Given the description of an element on the screen output the (x, y) to click on. 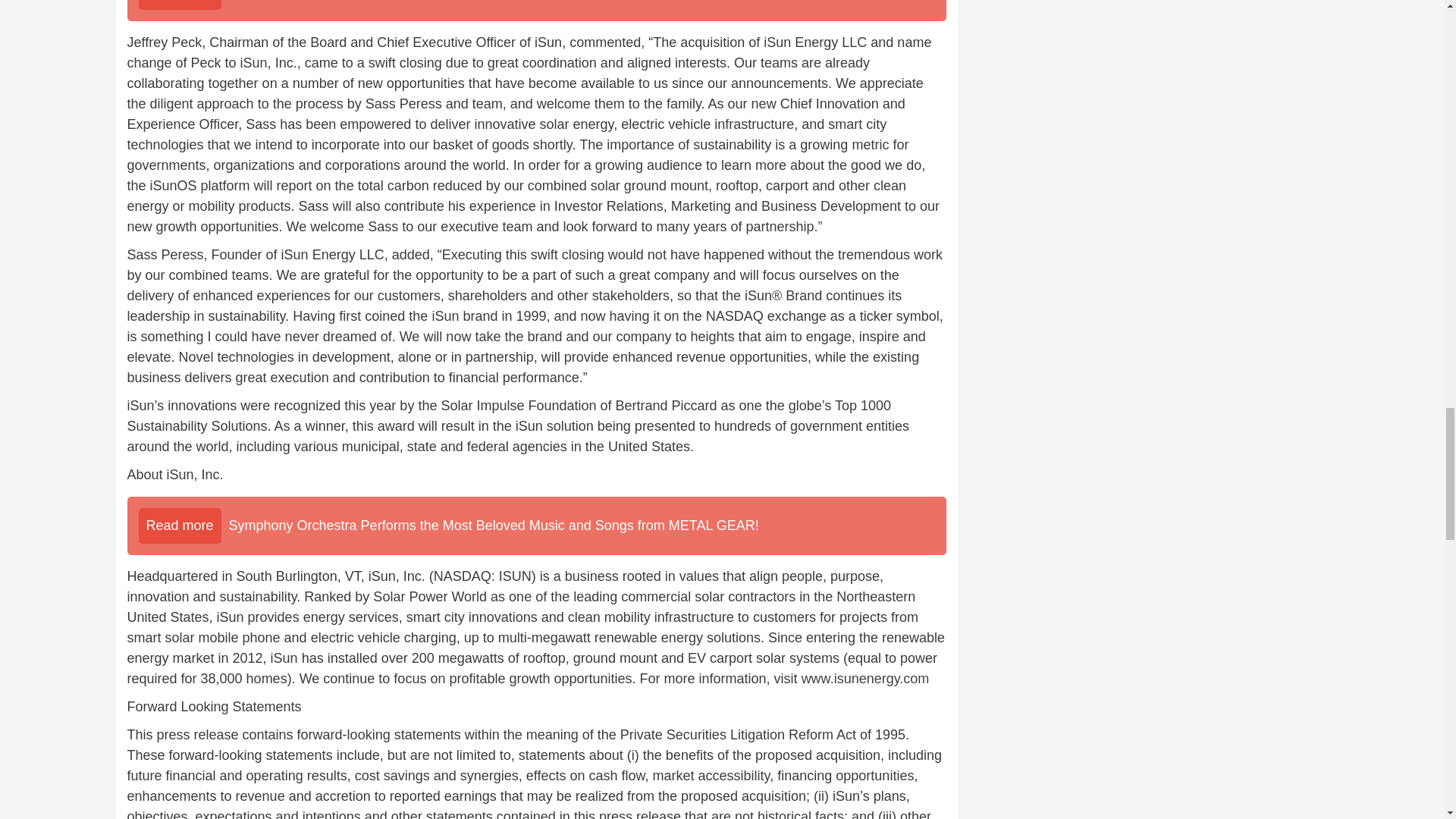
www.isunenergy.com (866, 678)
